Given the description of an element on the screen output the (x, y) to click on. 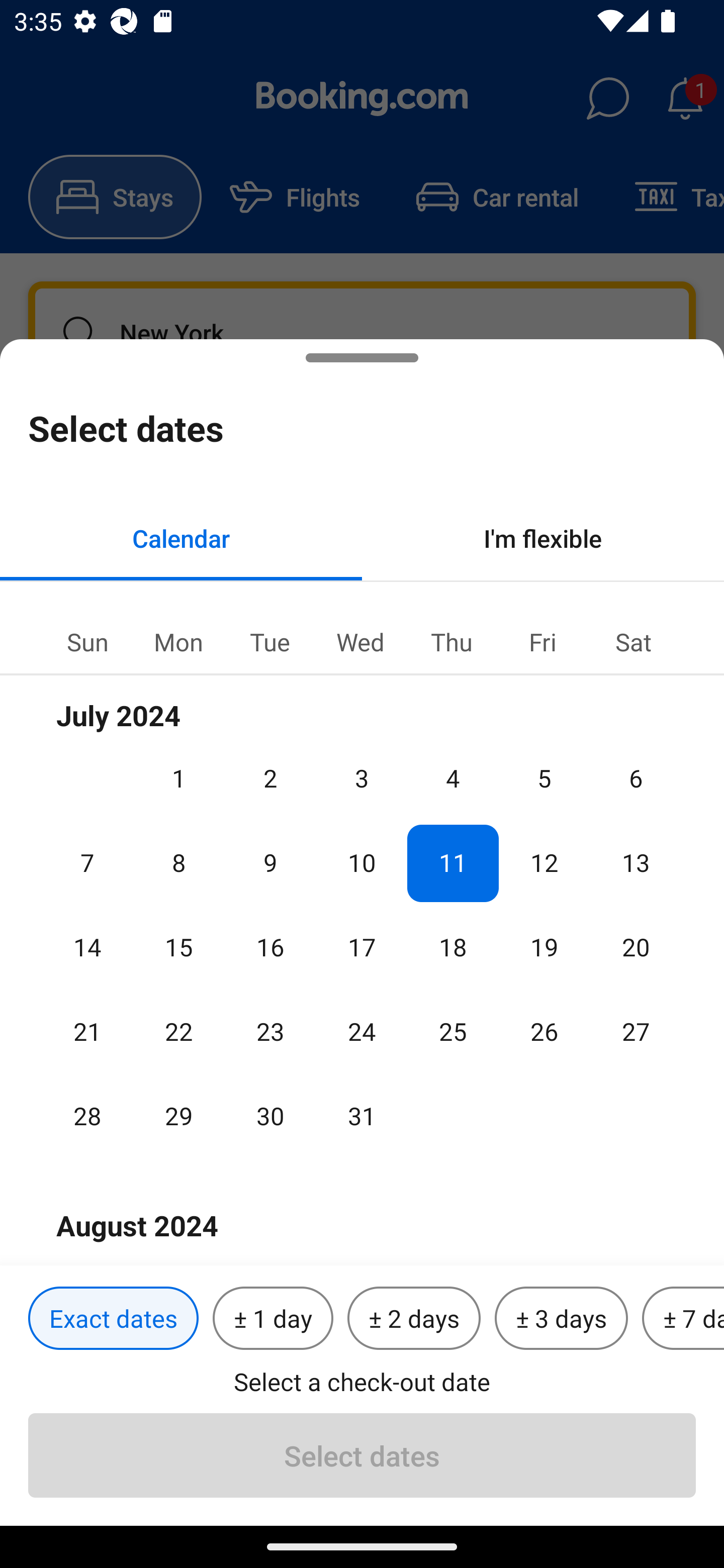
I'm flexible (543, 537)
Exact dates (113, 1318)
± 1 day (272, 1318)
± 2 days (413, 1318)
± 3 days (560, 1318)
± 7 days (683, 1318)
Select dates (361, 1454)
